Given the description of an element on the screen output the (x, y) to click on. 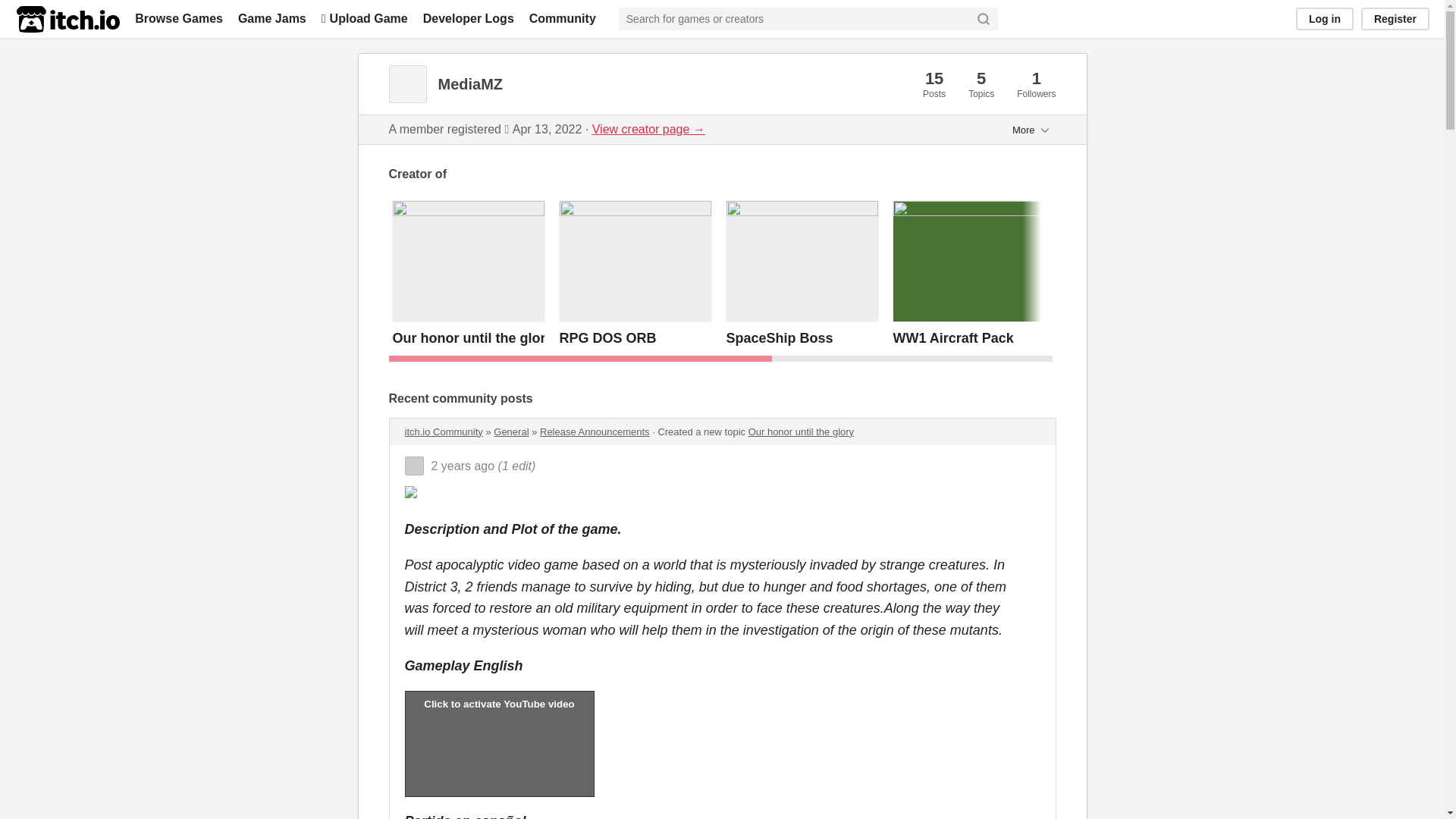
Game Jams (271, 18)
Upload Game (364, 18)
itch.io - indie game hosting marketplace (67, 18)
Our honor until the glory (473, 337)
2022-05-08 09:17:38 (462, 465)
Community (562, 18)
Browse Games (178, 18)
Developer Logs (468, 18)
